Given the description of an element on the screen output the (x, y) to click on. 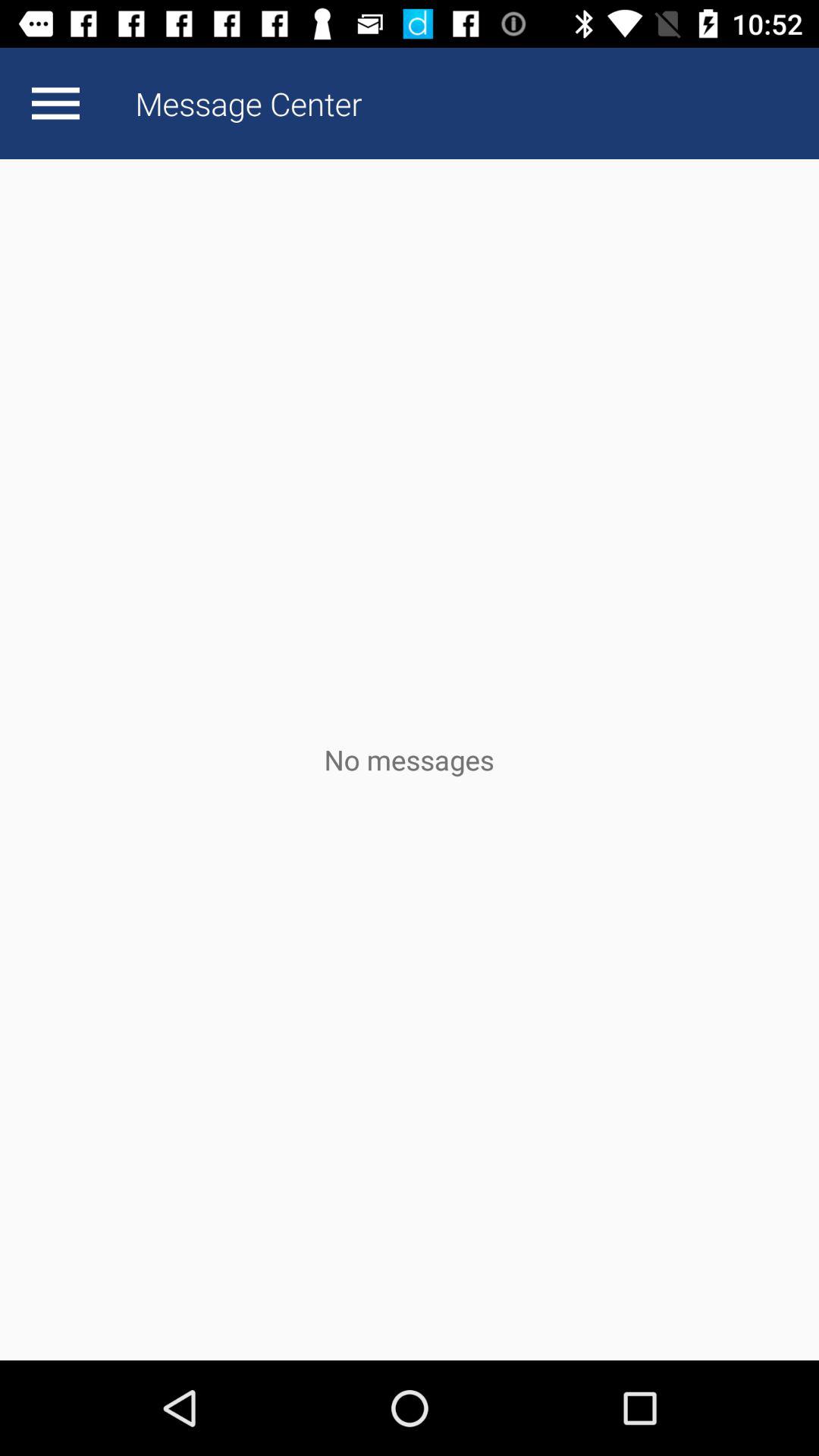
select app next to the message center app (55, 103)
